Given the description of an element on the screen output the (x, y) to click on. 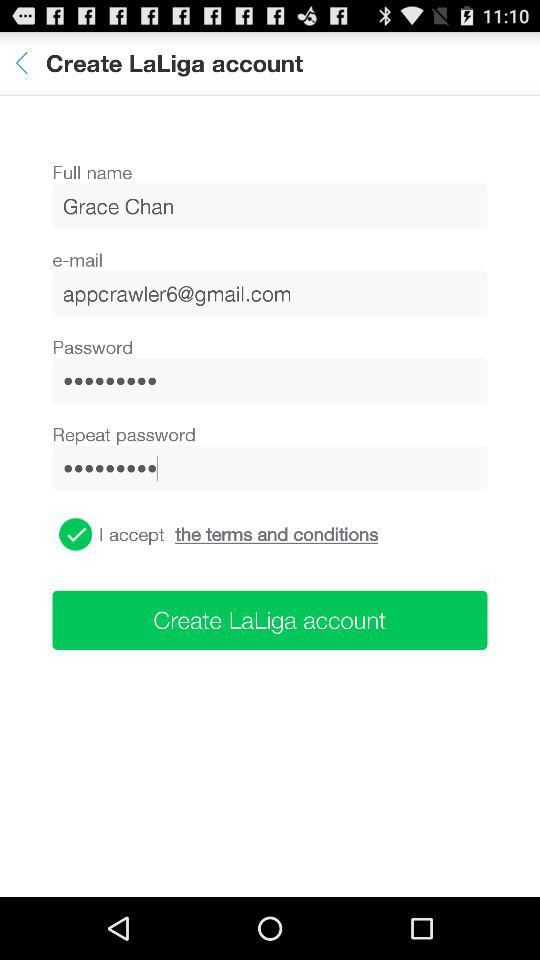
scroll until the grace chan item (269, 206)
